Given the description of an element on the screen output the (x, y) to click on. 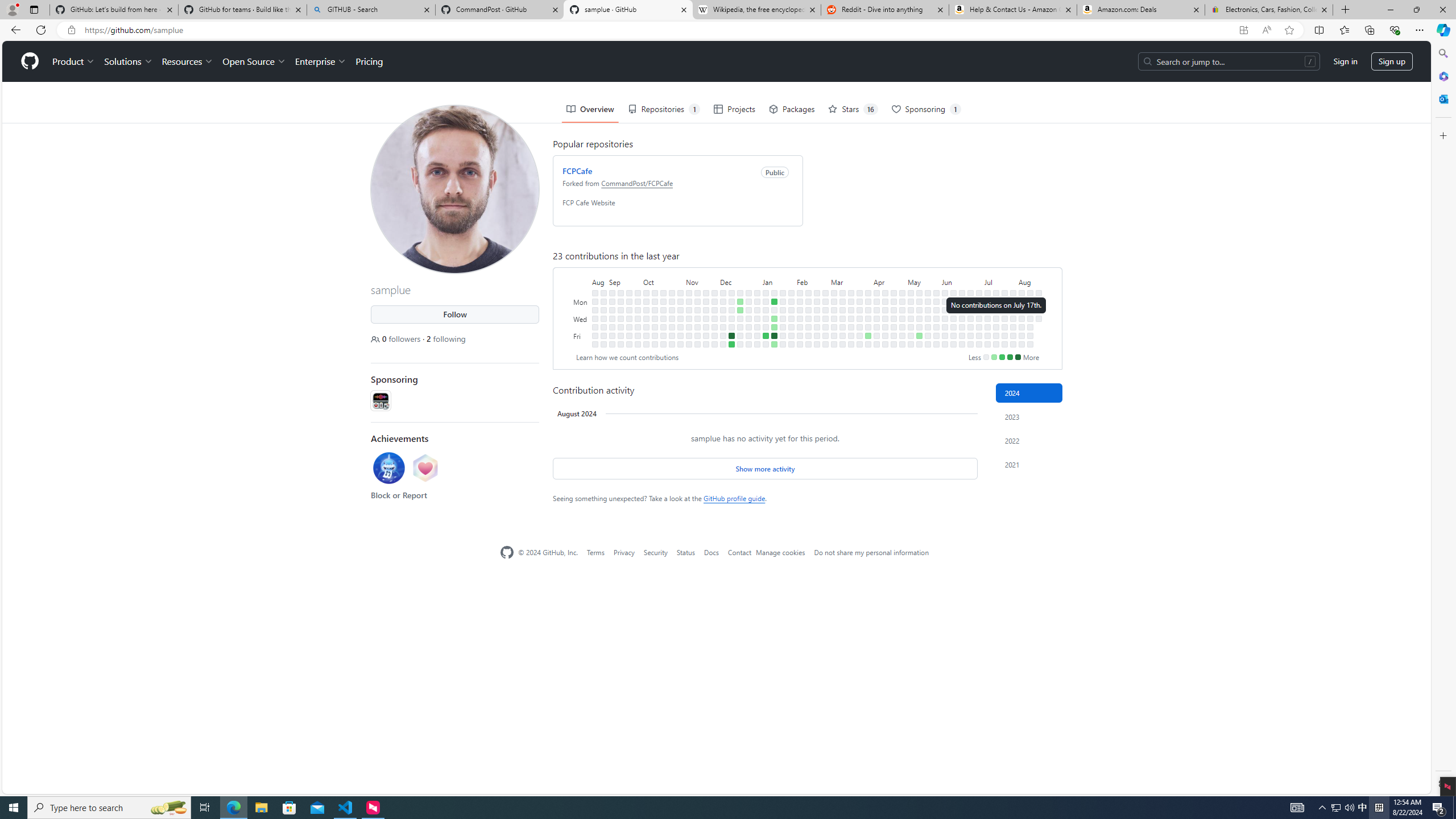
No contributions on August 26th. (595, 343)
No contributions on January 10th. (765, 318)
No contributions on July 18th. (995, 326)
No contributions on September 15th. (620, 335)
No contributions on February 1st. (790, 326)
No contributions on July 5th. (978, 335)
No contributions on March 14th. (842, 326)
No contributions on June 8th. (944, 343)
No contributions on January 16th. (774, 309)
No contributions on July 30th. (1013, 309)
Enterprise (319, 60)
No contributions on July 22nd. (1004, 301)
